Given the description of an element on the screen output the (x, y) to click on. 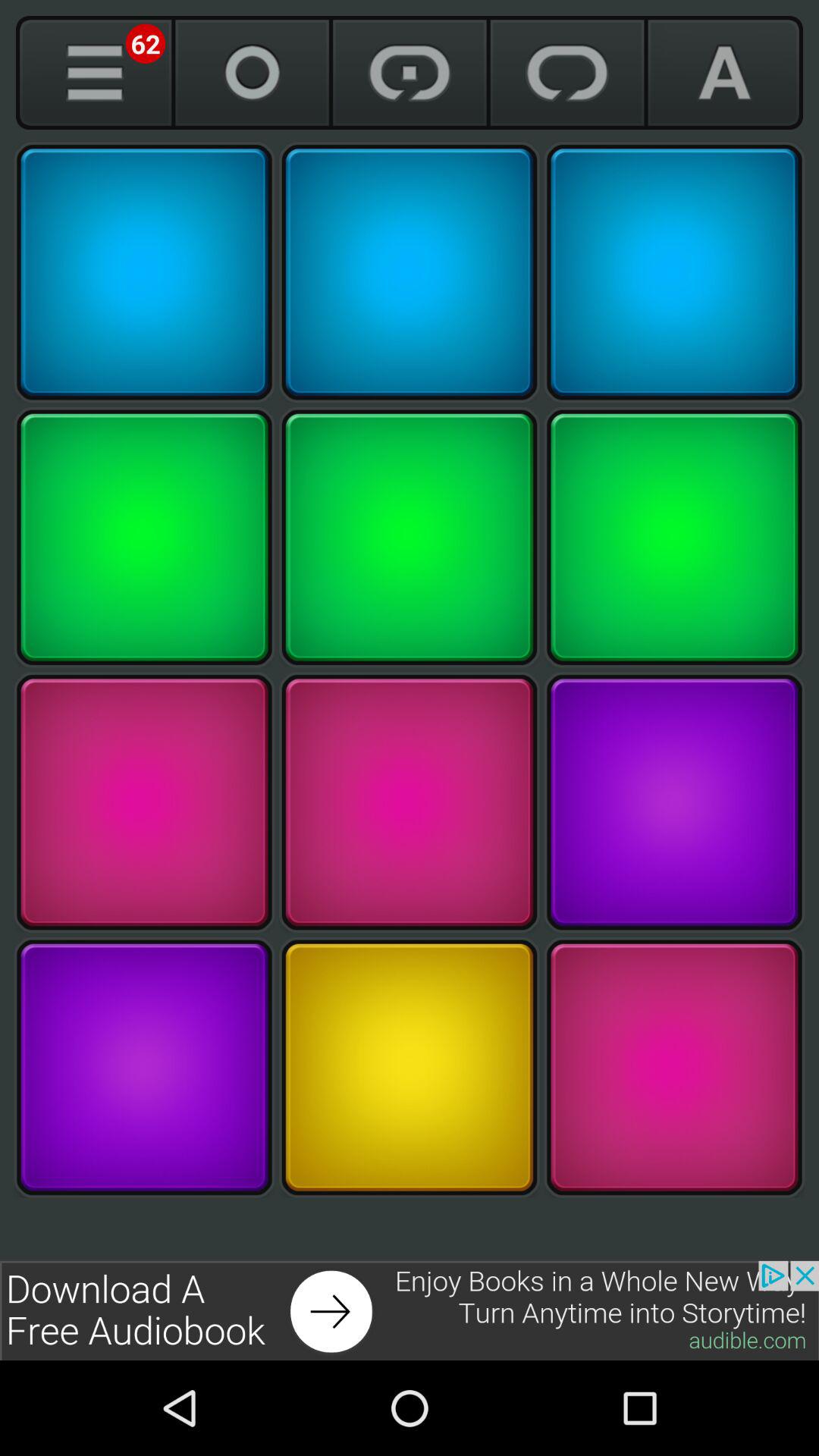
click to follow advertisement link (409, 1310)
